Given the description of an element on the screen output the (x, y) to click on. 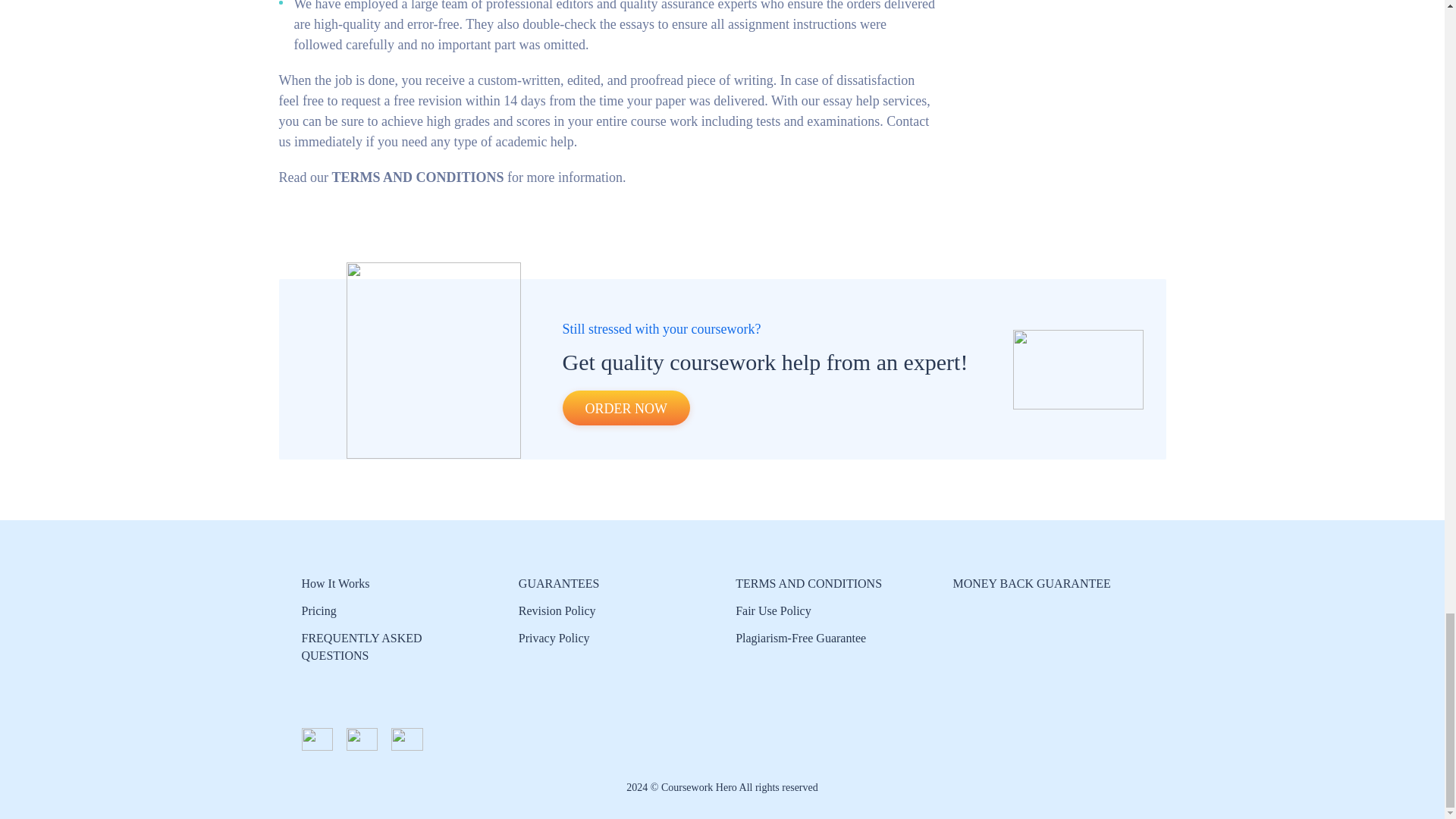
FREQUENTLY ASKED QUESTIONS (361, 646)
TERMS AND CONDITIONS (808, 583)
MONEY BACK GUARANTEE (1030, 583)
Pricing (318, 610)
GUARANTEES (558, 583)
How It Works (335, 583)
Revision Policy (556, 610)
Fair Use Policy (772, 610)
Privacy Policy  (555, 637)
ORDER NOW (626, 407)
Plagiarism-Free Guarantee (800, 637)
